Given the description of an element on the screen output the (x, y) to click on. 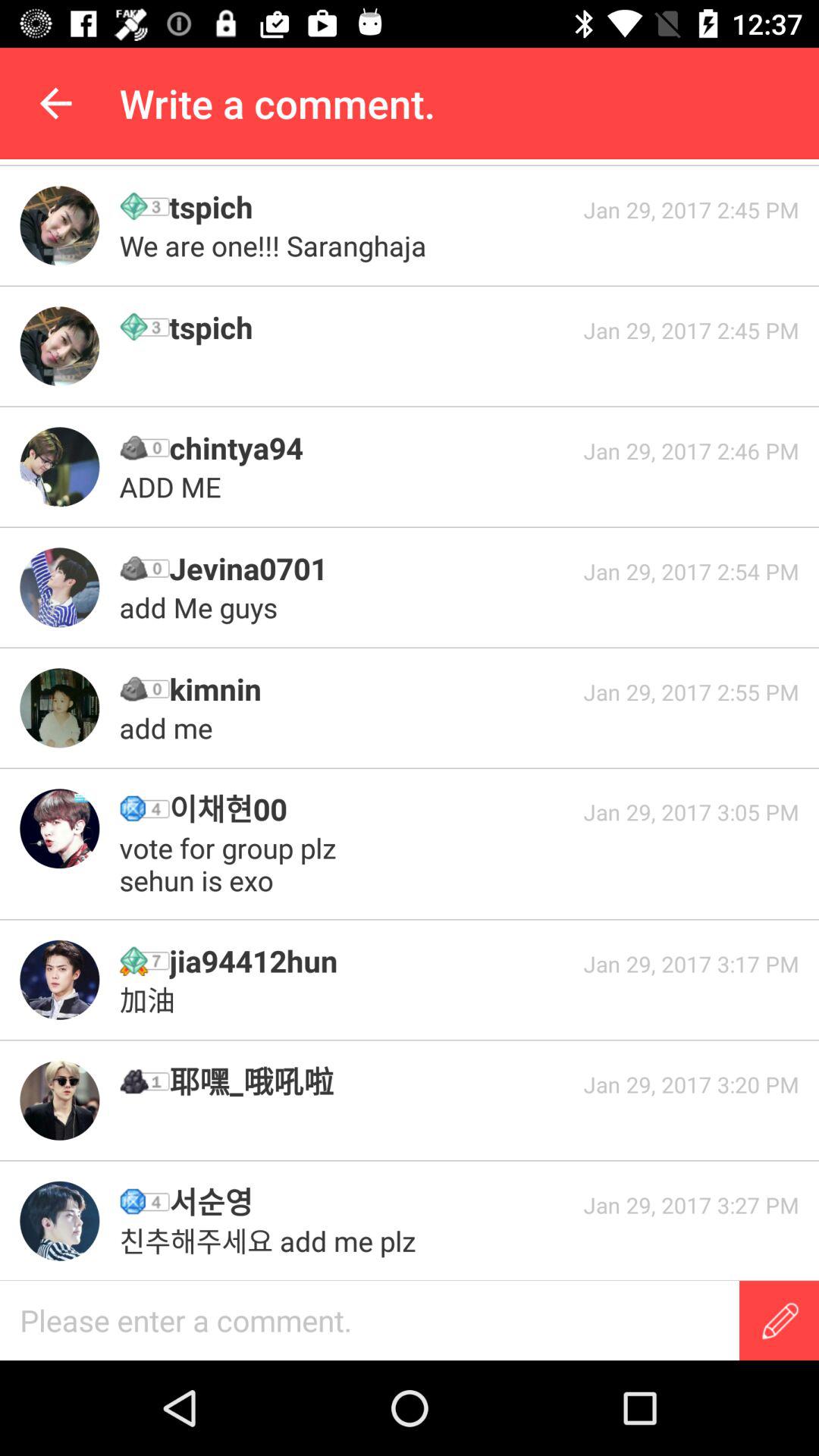
open profile (59, 466)
